Given the description of an element on the screen output the (x, y) to click on. 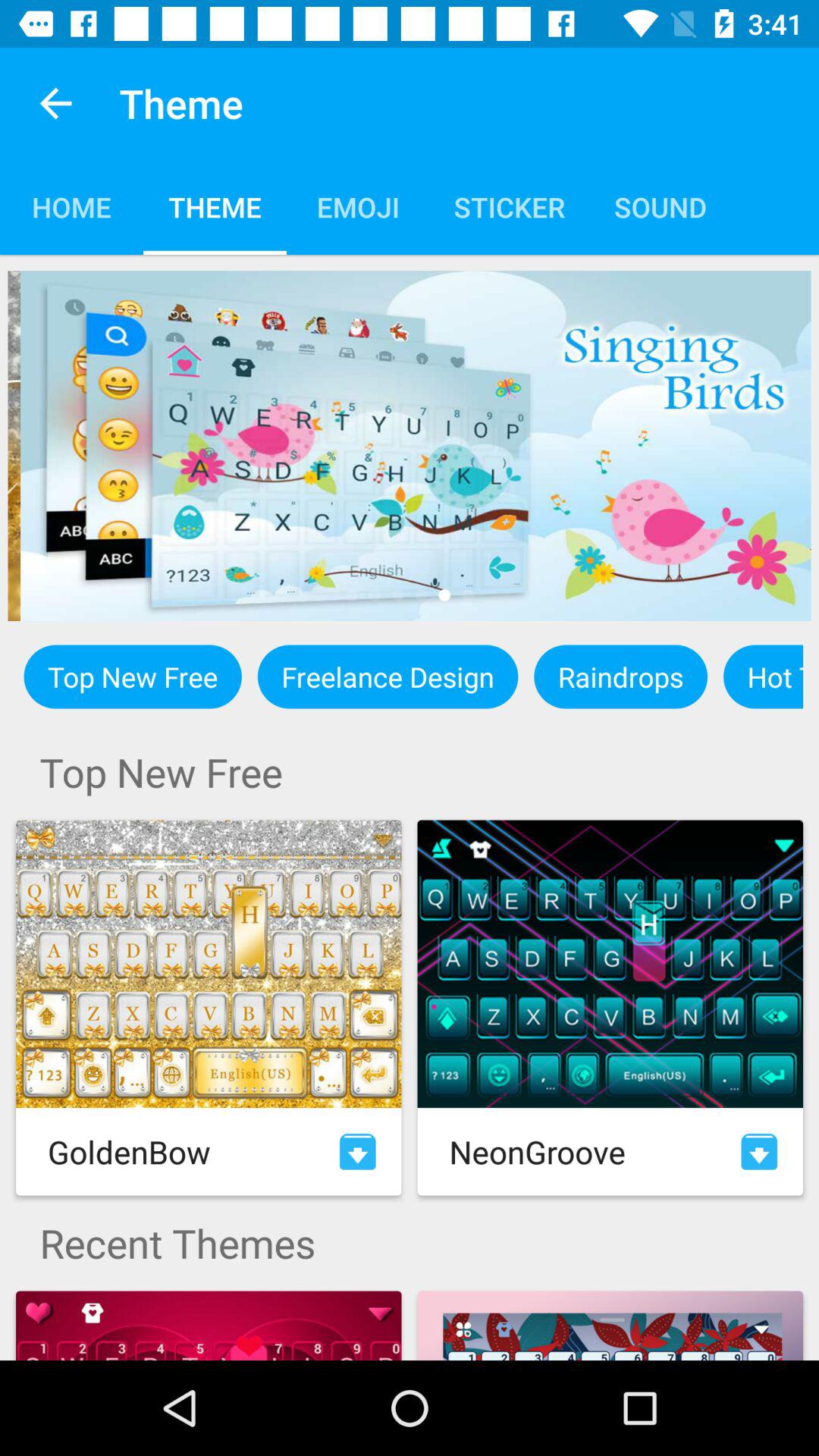
download theme (759, 1151)
